Given the description of an element on the screen output the (x, y) to click on. 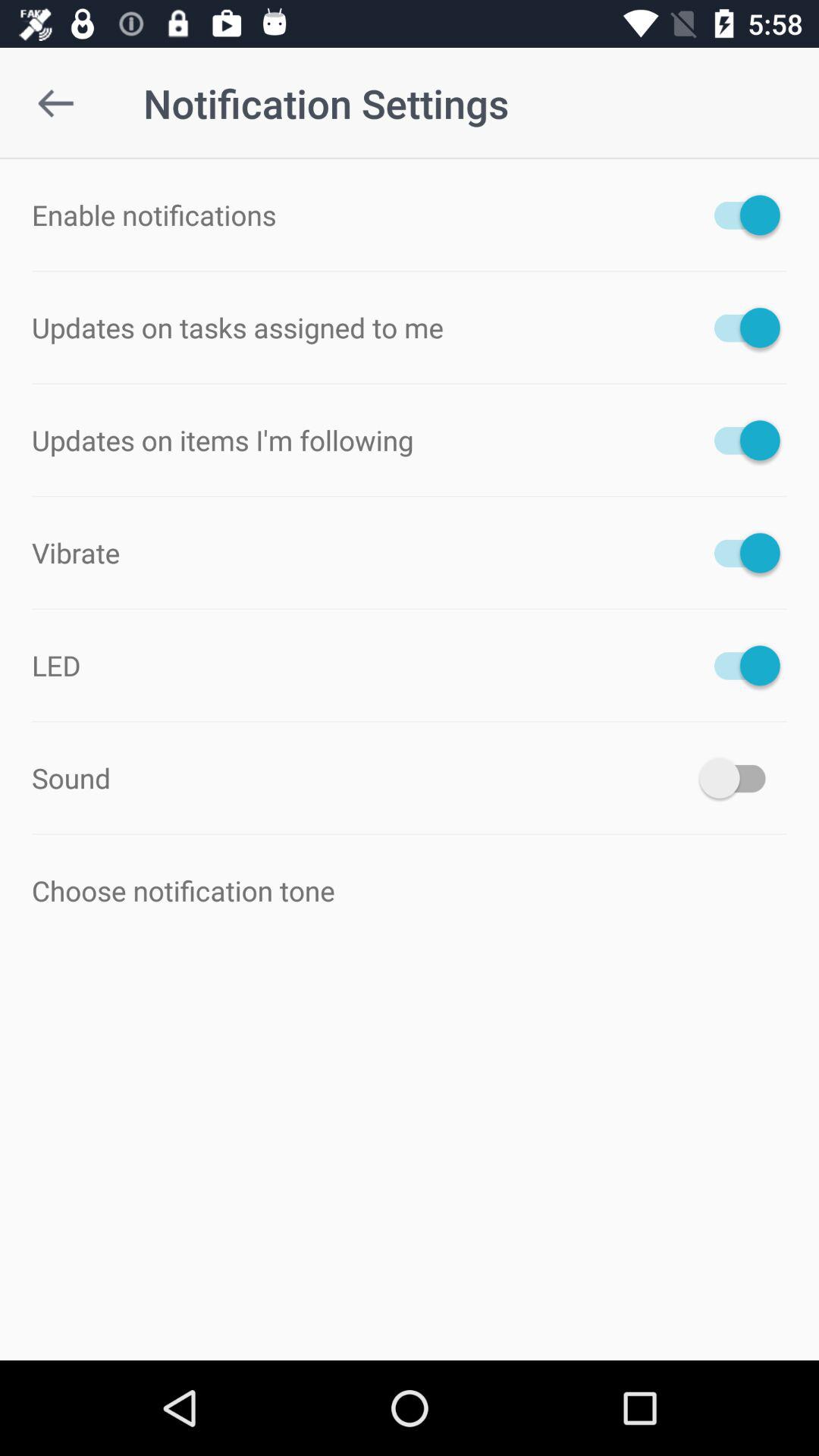
choose icon to the right of the sound item (739, 777)
